Given the description of an element on the screen output the (x, y) to click on. 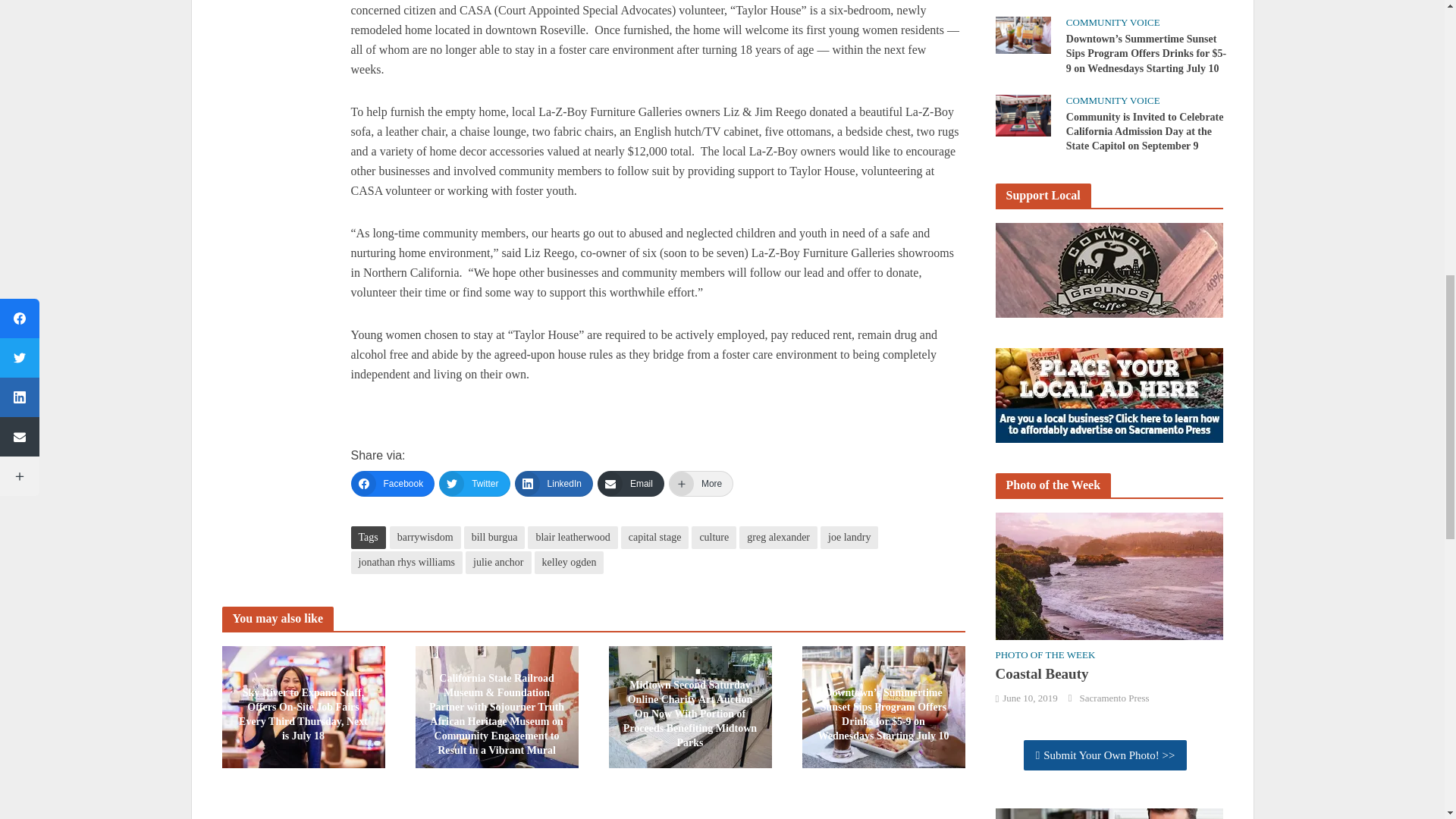
Coastal Beauty (1108, 574)
